Given the description of an element on the screen output the (x, y) to click on. 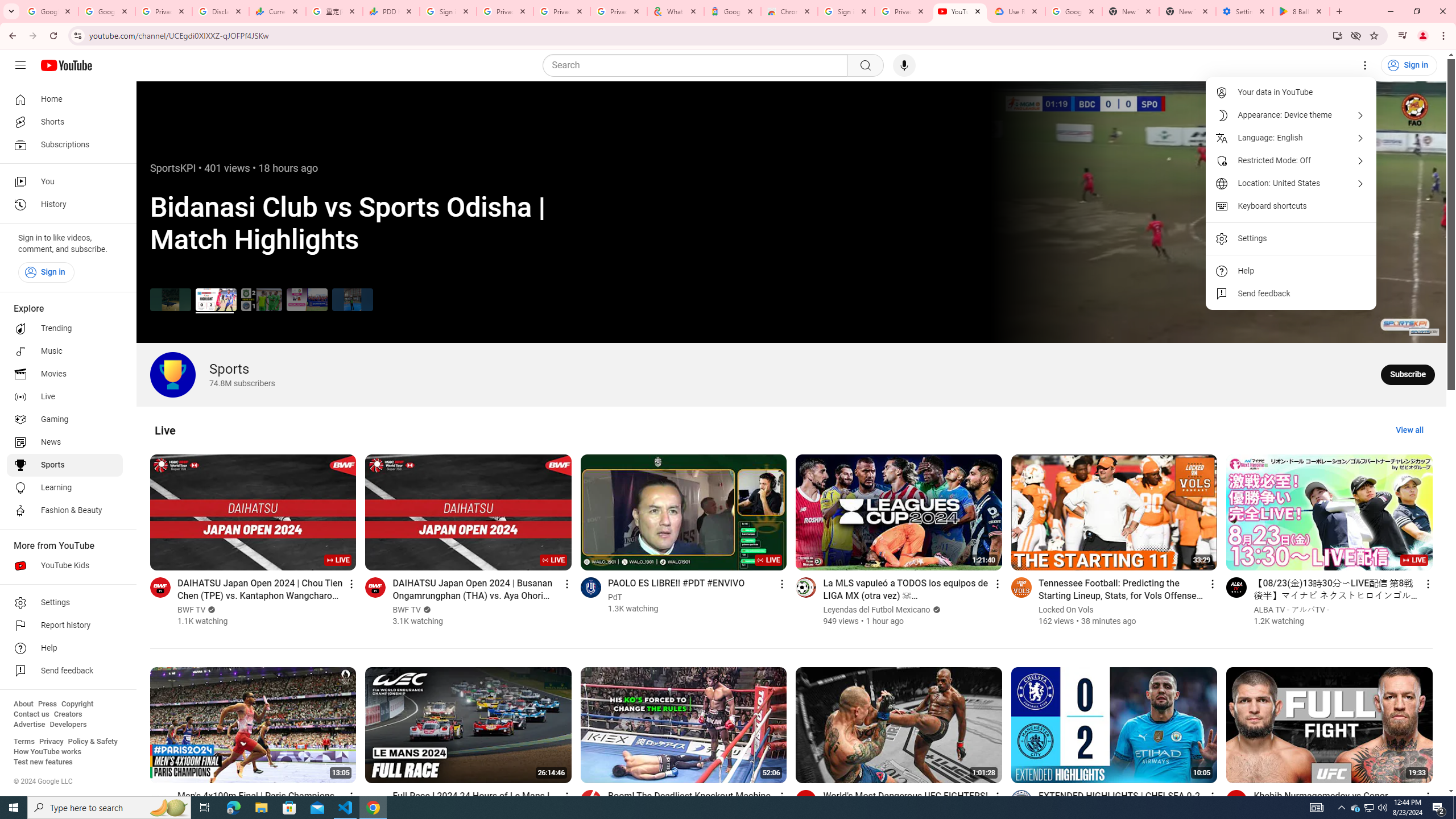
PDD Holdings Inc - ADR (PDD) Price & News - Google Finance (391, 11)
Creators (67, 714)
News (64, 441)
Home (64, 99)
Settings (1291, 238)
About (23, 703)
How YouTube works (47, 751)
Privacy Checkup (618, 11)
